Given the description of an element on the screen output the (x, y) to click on. 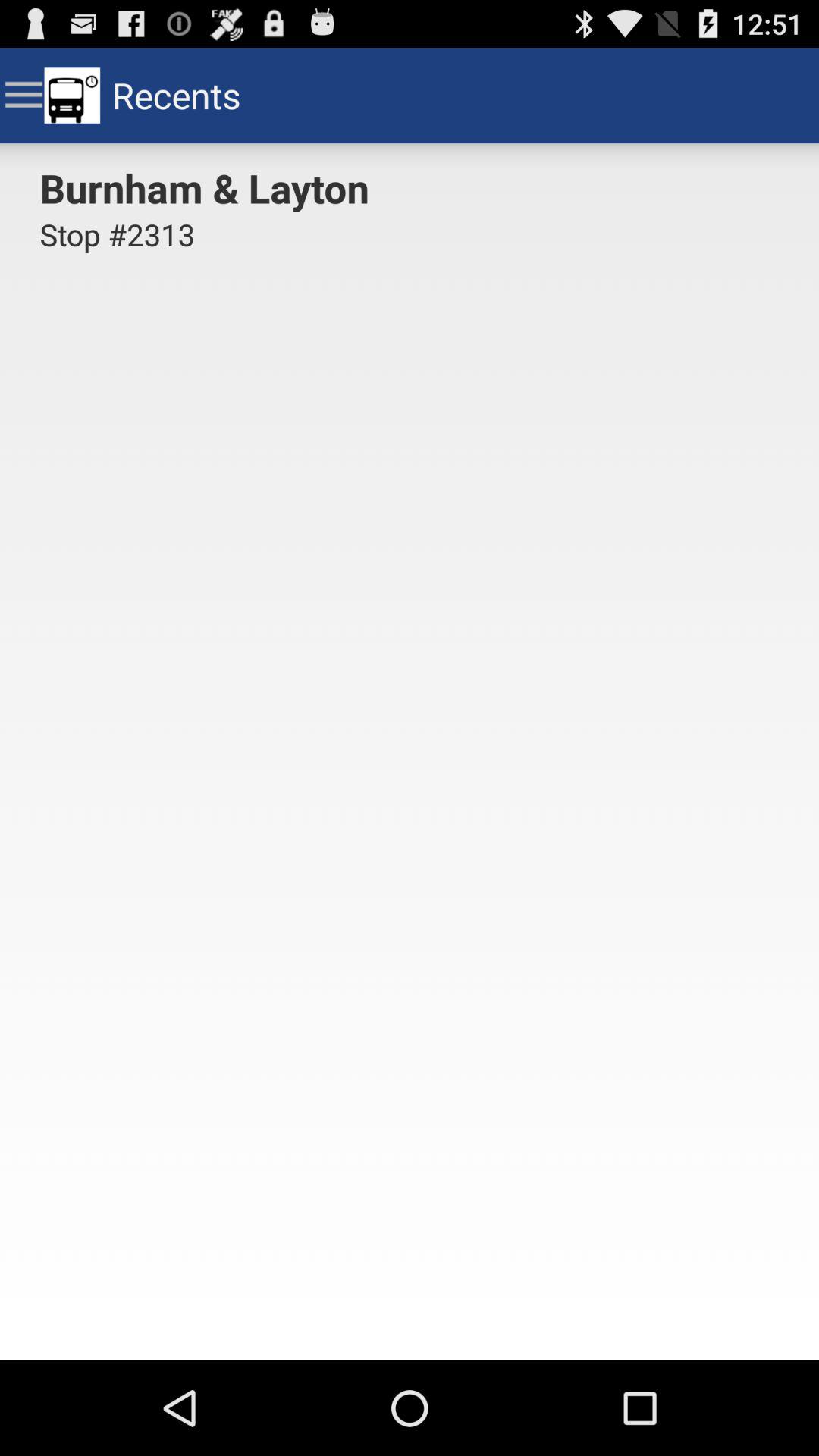
turn on the stop #2313 icon (117, 243)
